Given the description of an element on the screen output the (x, y) to click on. 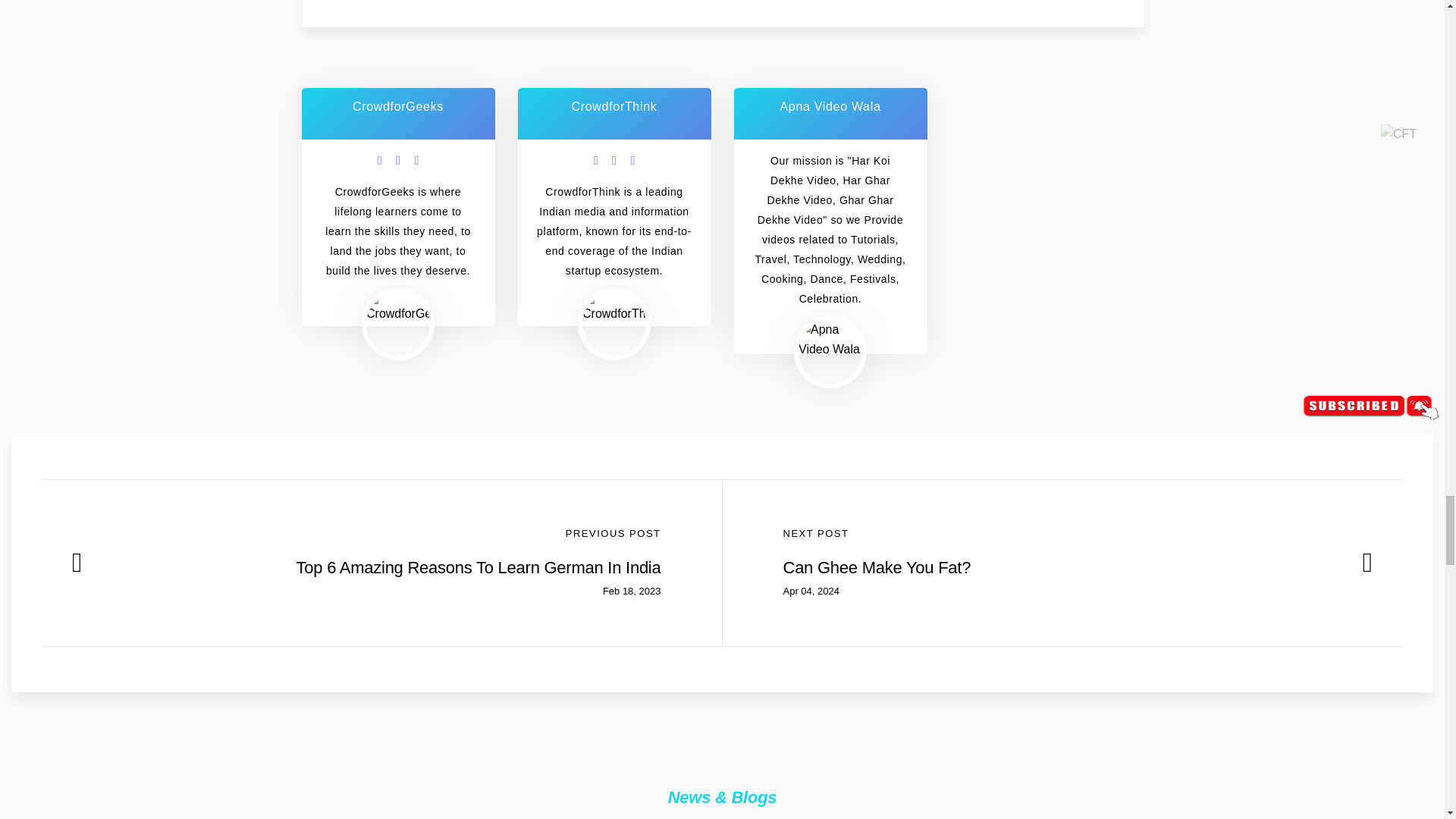
CrowdforGeeks (397, 307)
CrowdforThink (614, 307)
Apna Video Wala (829, 339)
